Given the description of an element on the screen output the (x, y) to click on. 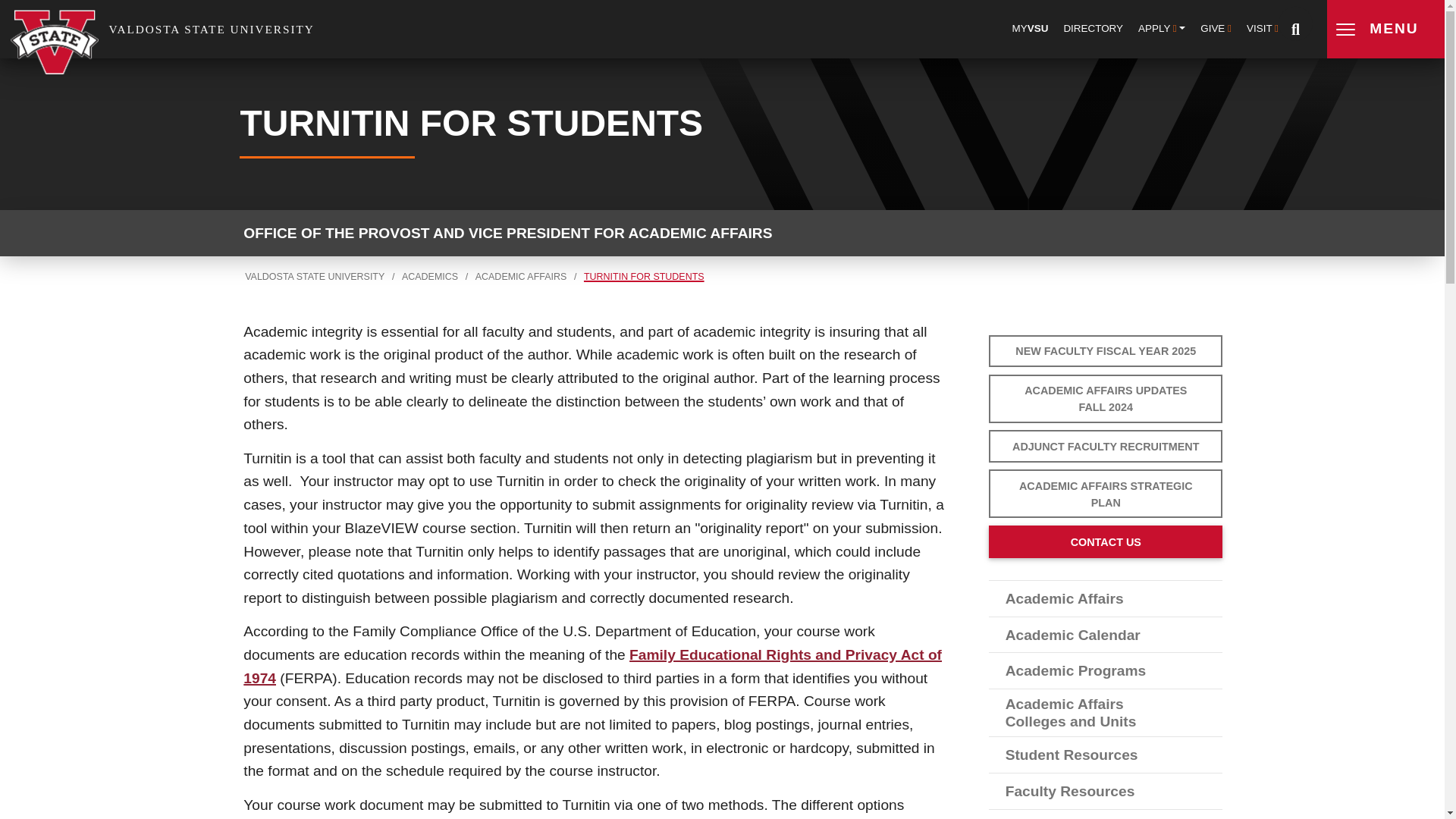
VISIT (1262, 28)
APPLY (1161, 28)
GIVE (1215, 28)
DIRECTORY (1092, 28)
MYVSU (1030, 28)
